Given the description of an element on the screen output the (x, y) to click on. 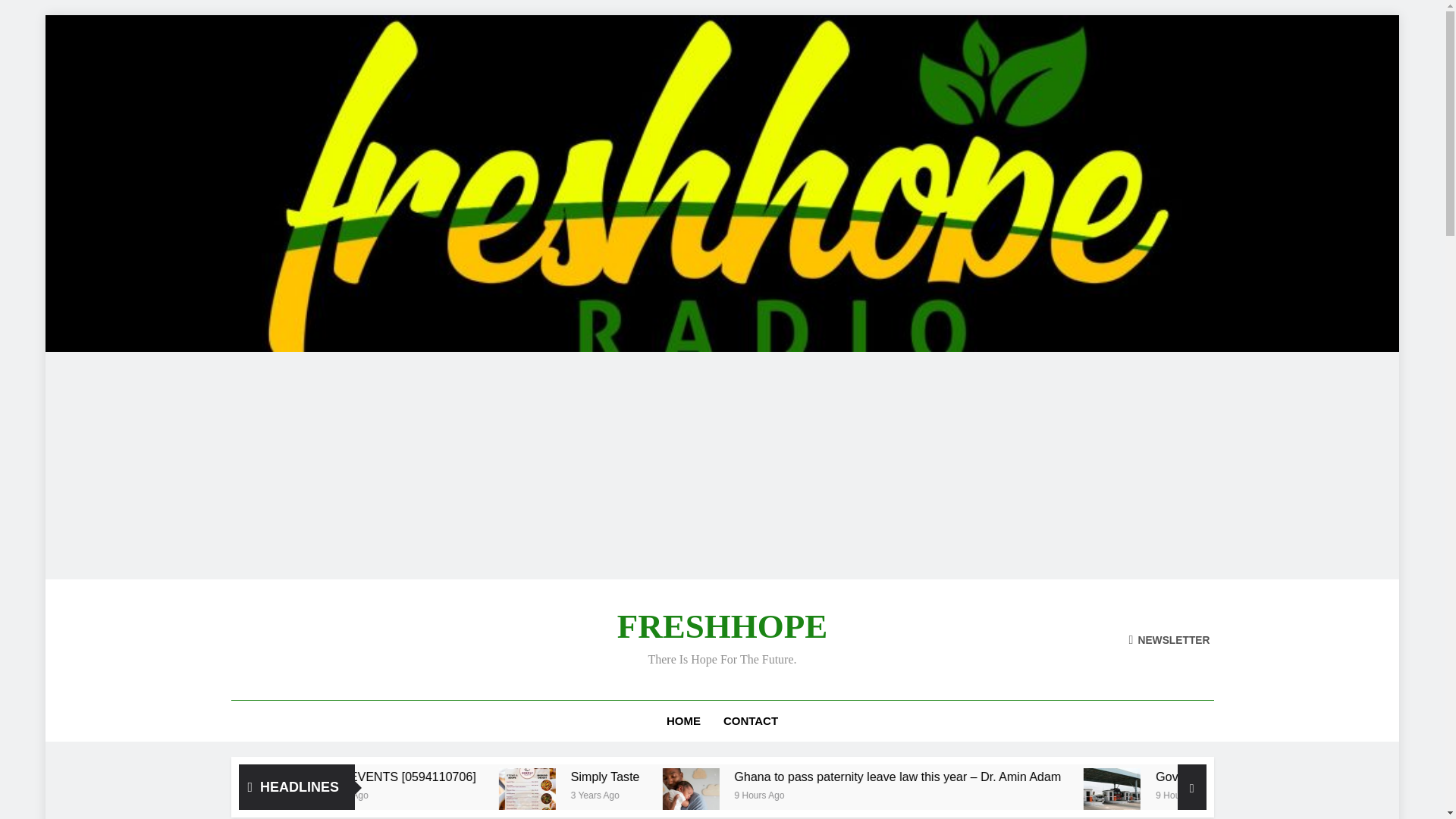
Simply Taste (703, 793)
CONTACT (750, 721)
3 Years Ago (877, 793)
3 Years Ago (636, 793)
Simply Taste (891, 776)
FRESHHOPE (722, 626)
Simply Taste (774, 776)
Online Radio Setup (478, 776)
Simply Taste (699, 793)
3 Years Ago (447, 793)
NEWSLETTER (1169, 639)
Online Radio Setup (362, 776)
HOME (683, 721)
